Given the description of an element on the screen output the (x, y) to click on. 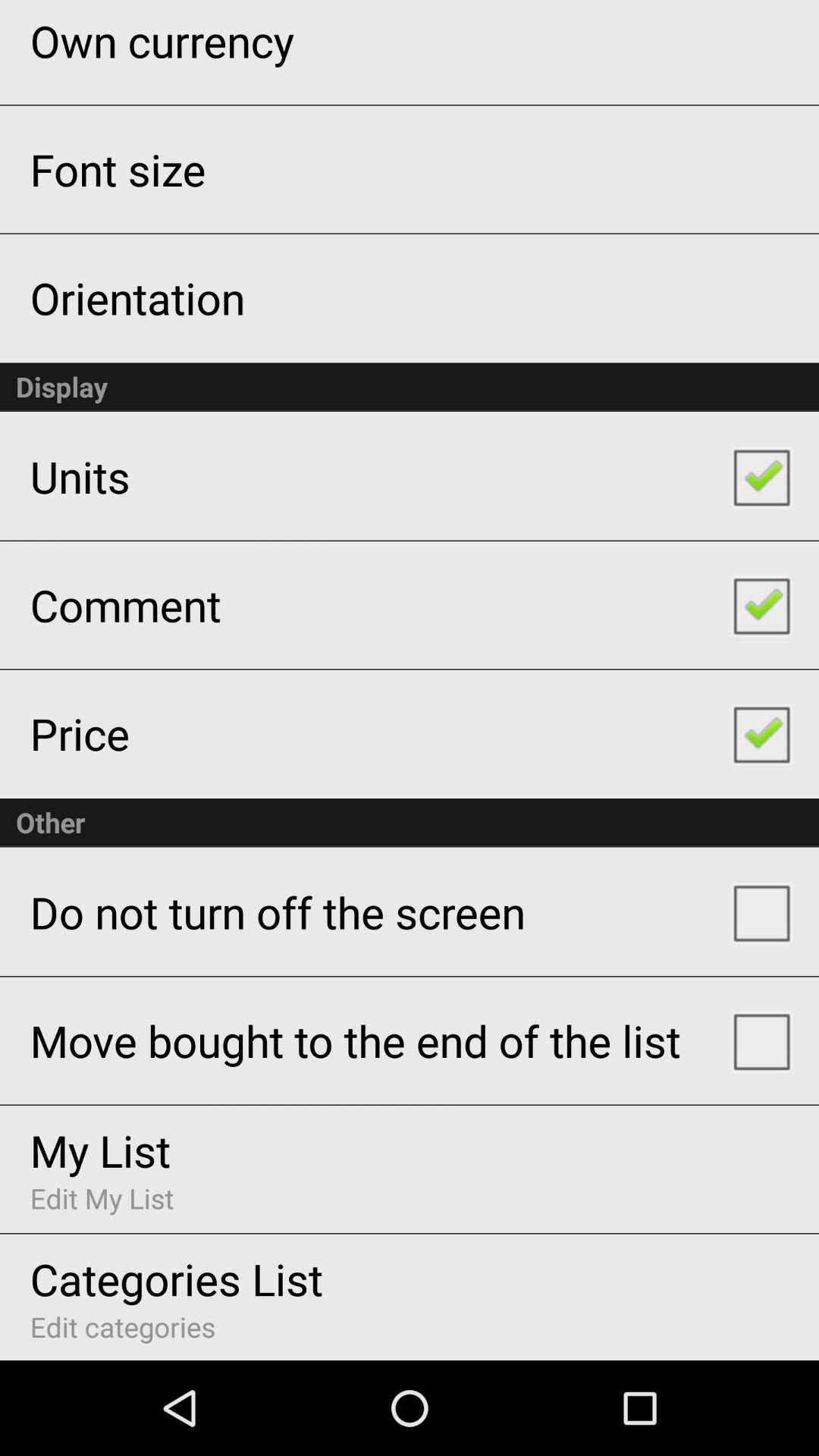
flip to the edit categories (122, 1326)
